Given the description of an element on the screen output the (x, y) to click on. 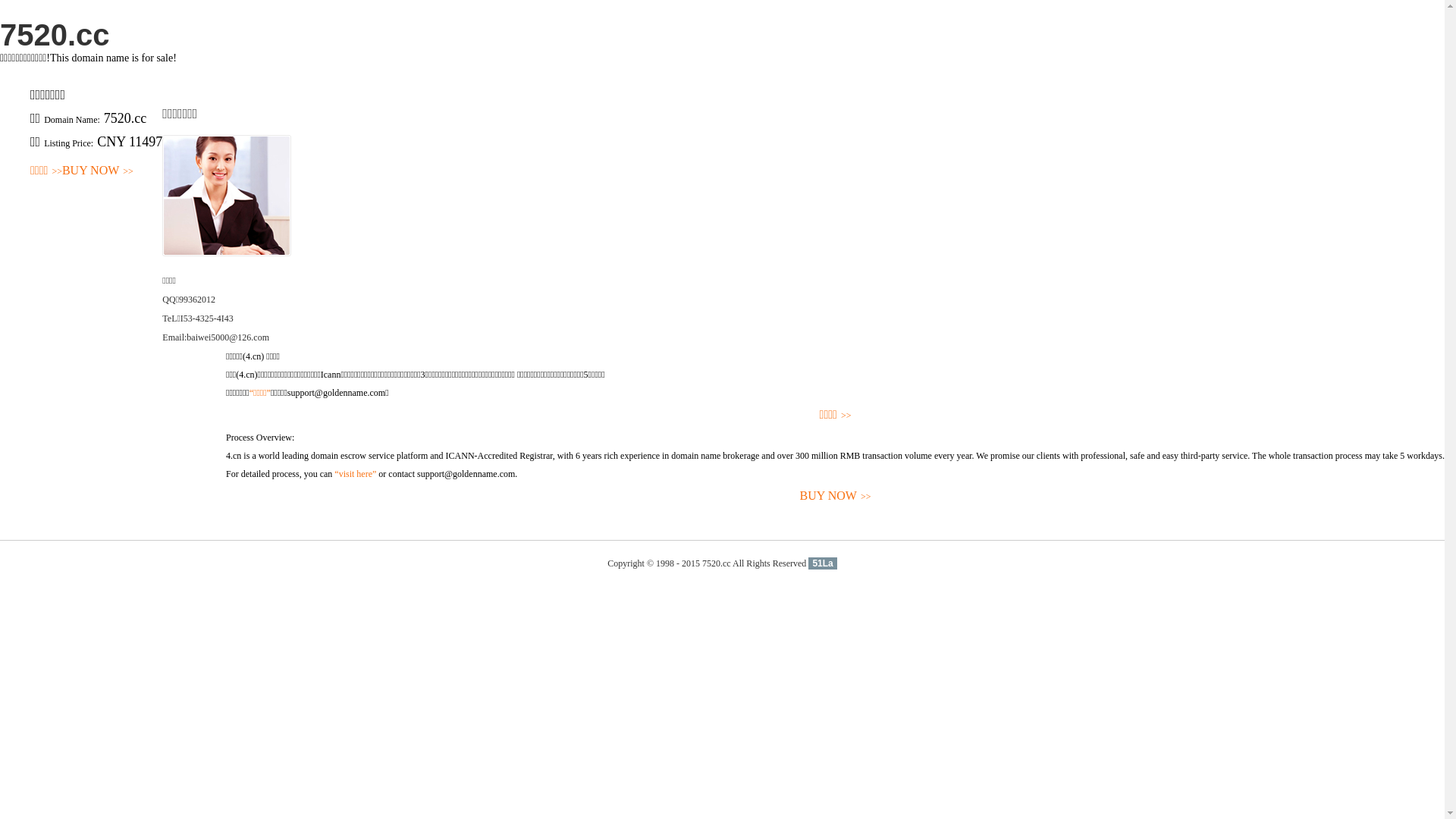
51La Element type: text (822, 563)
BUY NOW>> Element type: text (97, 170)
BUY NOW>> Element type: text (834, 496)
